Given the description of an element on the screen output the (x, y) to click on. 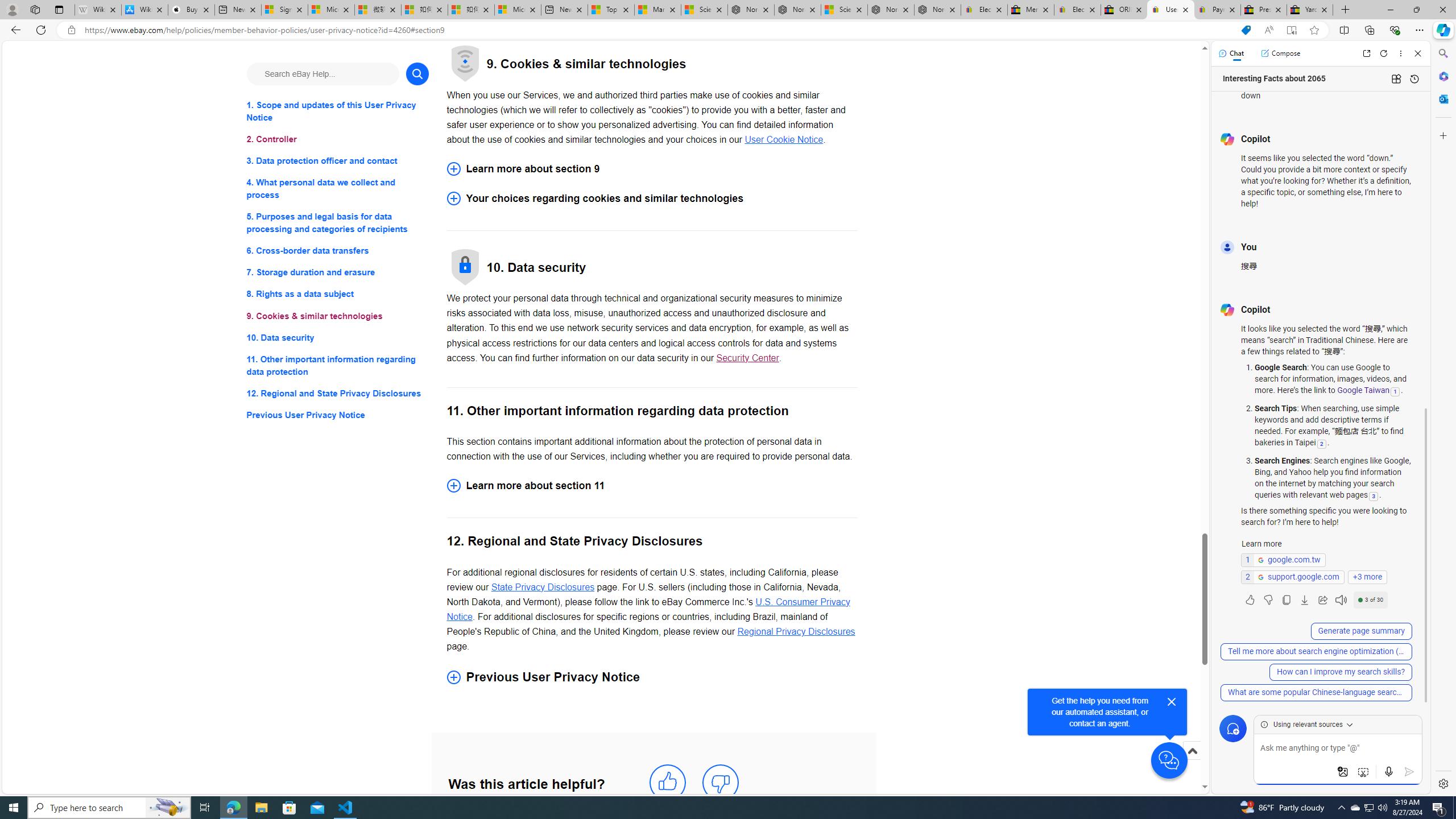
Scroll to top (1191, 762)
Security Center - opens in new window or tab (747, 357)
1. Scope and updates of this User Privacy Notice (337, 111)
2. Controller (337, 138)
Previous User Privacy Notice (337, 414)
